Given the description of an element on the screen output the (x, y) to click on. 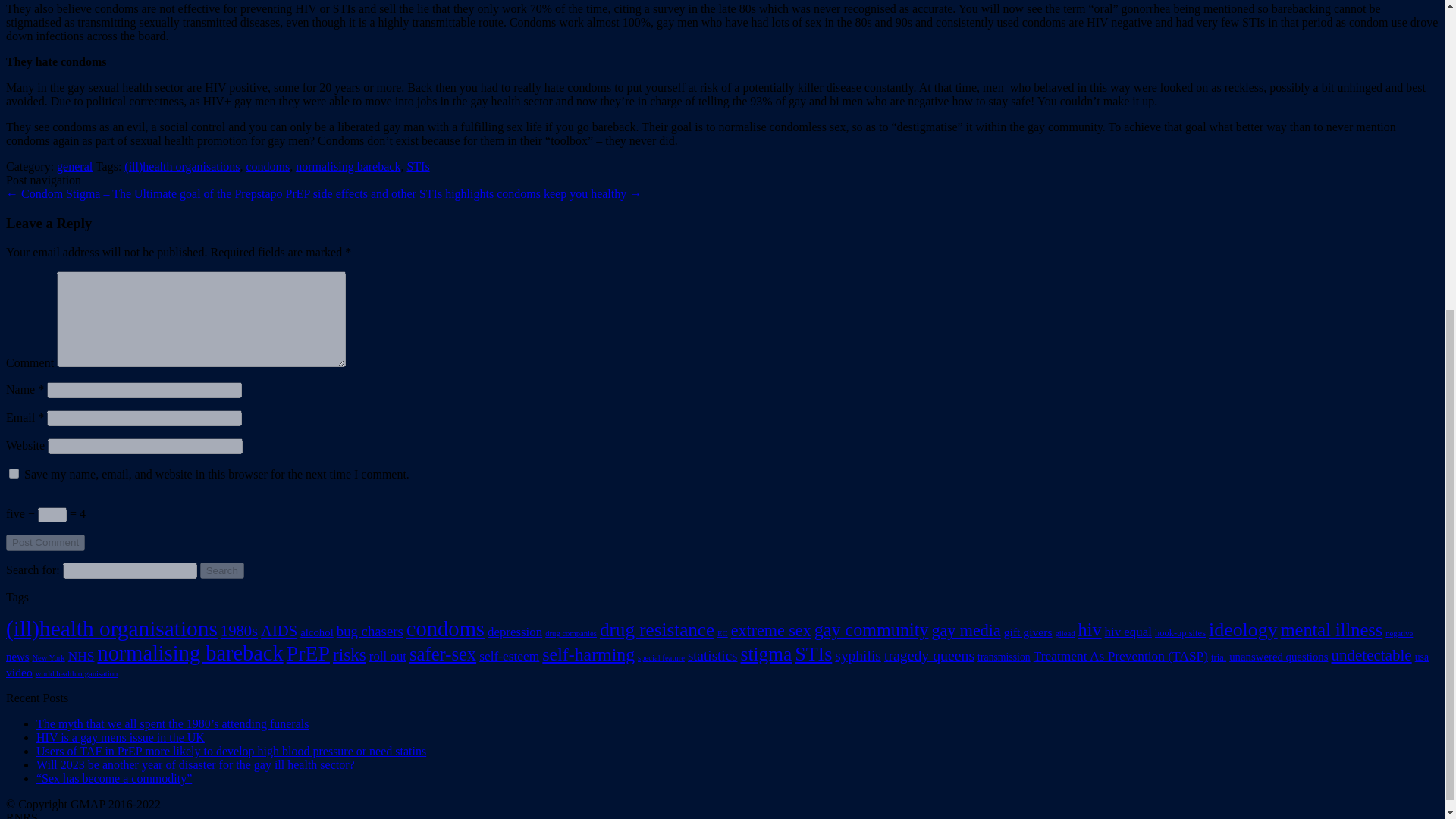
condoms (445, 628)
hiv equal (1128, 631)
gilead (1065, 633)
bug chasers (369, 631)
STIs (417, 165)
hiv (1090, 629)
mental illness (1332, 629)
drug companies (570, 633)
EC (722, 633)
negative (1399, 633)
normalising bareback (347, 165)
AIDS (278, 630)
ideology (1243, 629)
New York (48, 657)
Post Comment (44, 542)
